Given the description of an element on the screen output the (x, y) to click on. 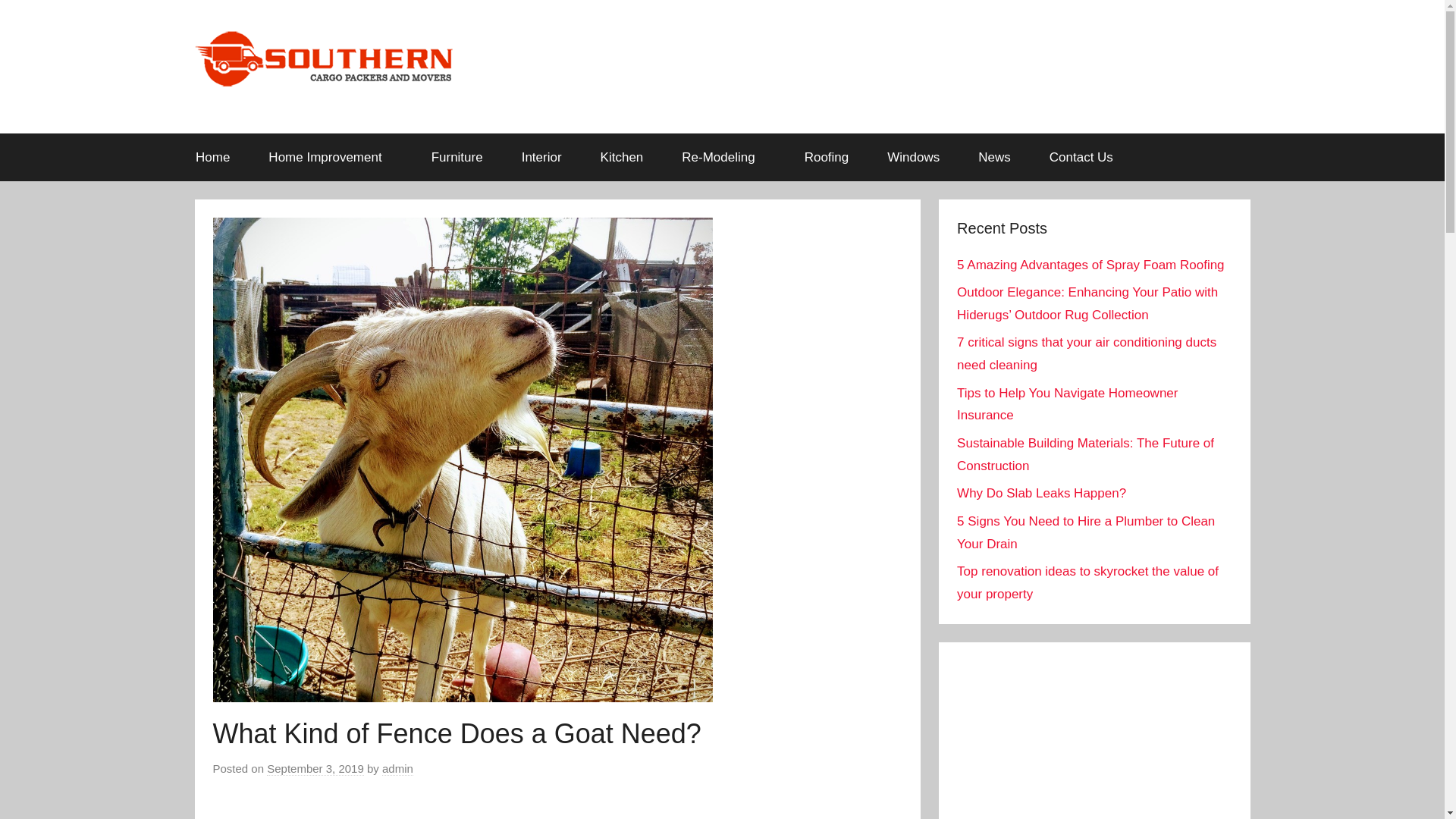
Home Improvement (330, 157)
Contact Us (1080, 157)
Why Do Slab Leaks Happen? (1040, 493)
View all posts by admin (397, 768)
Sustainable Building Materials: The Future of Construction (1085, 454)
admin (397, 768)
News (994, 157)
5 Signs You Need to Hire a Plumber to Clean Your Drain (1085, 532)
Furniture (457, 157)
Interior (541, 157)
